Given the description of an element on the screen output the (x, y) to click on. 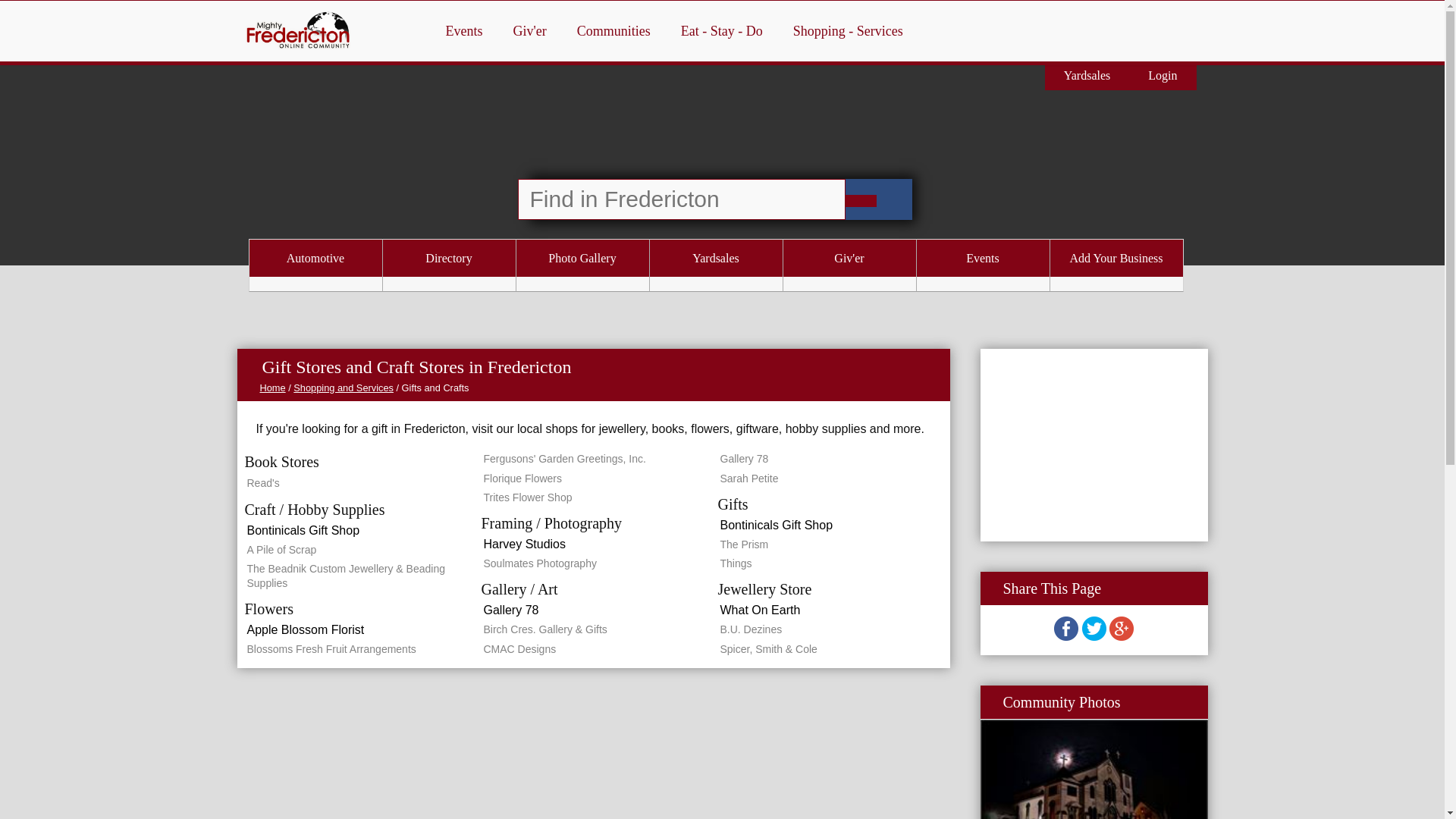
Yardsales (1087, 75)
Login (1162, 75)
Communities (613, 30)
Home Page (272, 387)
Automotive (314, 257)
Directory (448, 257)
Shopping and Services (343, 387)
Community Photos (1061, 701)
Events (463, 30)
Events (981, 257)
Giv'er (849, 257)
Advertisement (1093, 443)
January Moon 2018 by Yves Pinet, Photographer (1093, 769)
Share on Facebook (1066, 635)
Photo Gallery (581, 257)
